Given the description of an element on the screen output the (x, y) to click on. 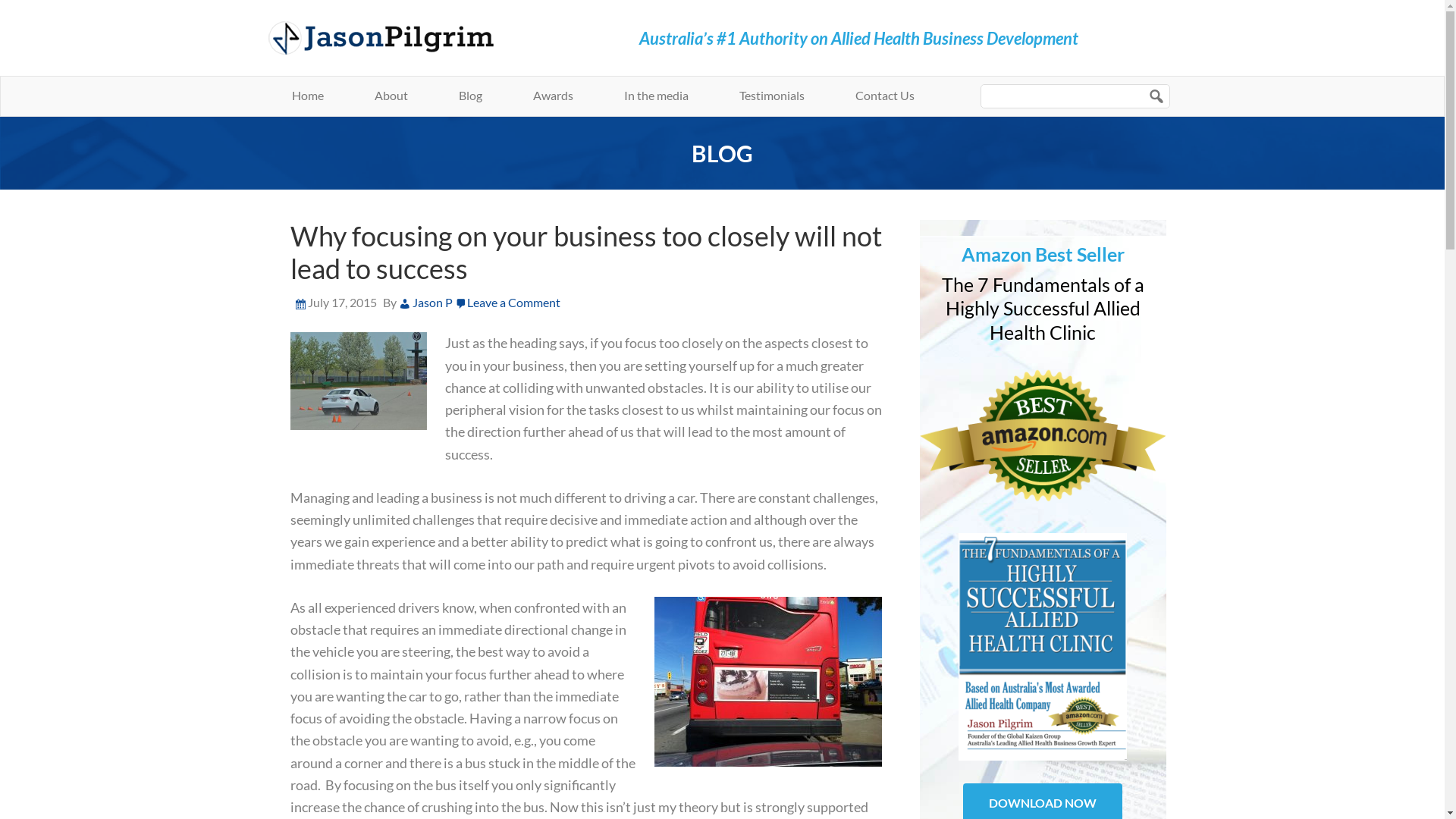
Leave a Comment Element type: text (513, 301)
Search Element type: text (1226, 83)
In the media Element type: text (655, 95)
Front Cover Screenshot 2017 Element type: hover (1042, 646)
About Element type: text (391, 95)
JASON PILGRIM Element type: text (406, 37)
Jason P Element type: text (425, 301)
Testimonials Element type: text (771, 95)
Awards Element type: text (552, 95)
Contact Us Element type: text (884, 95)
Home Element type: text (306, 95)
Blog Element type: text (469, 95)
